Given the description of an element on the screen output the (x, y) to click on. 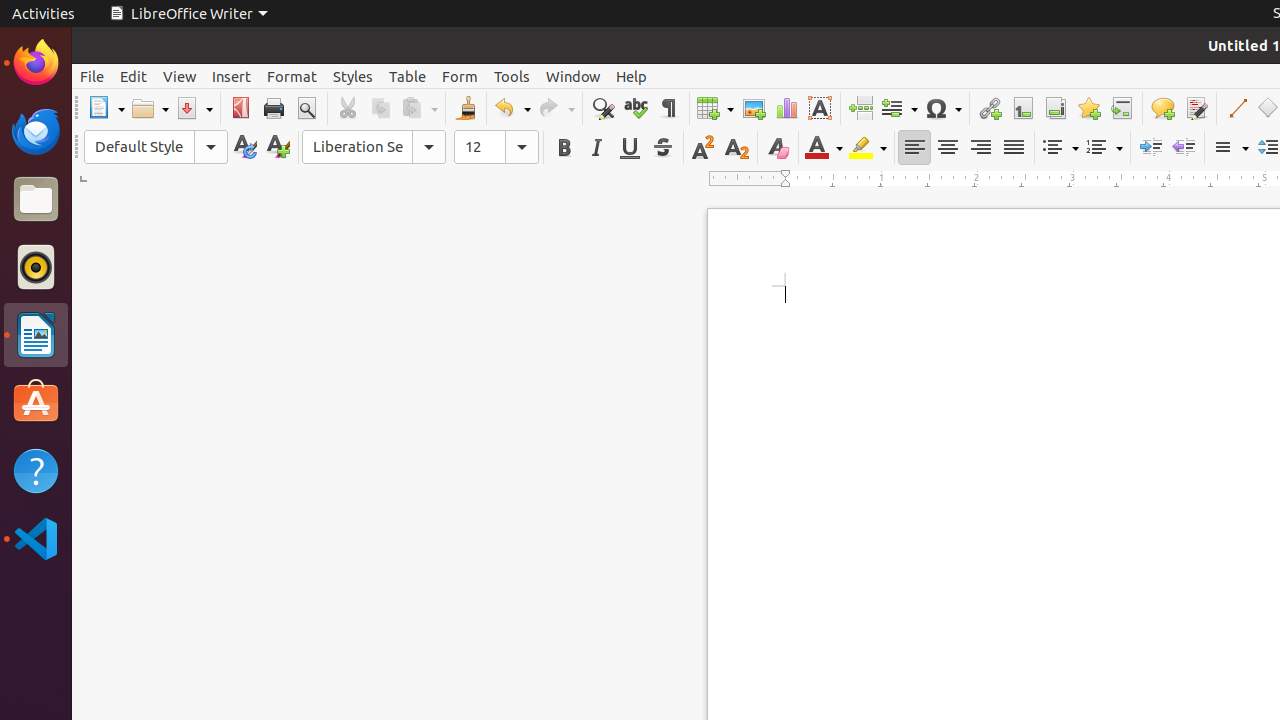
Hyperlink Element type: toggle-button (989, 108)
LibreOffice Writer Element type: menu (188, 13)
Bookmark Element type: push-button (1088, 108)
Activities Element type: label (43, 13)
Help Element type: menu (631, 76)
